Given the description of an element on the screen output the (x, y) to click on. 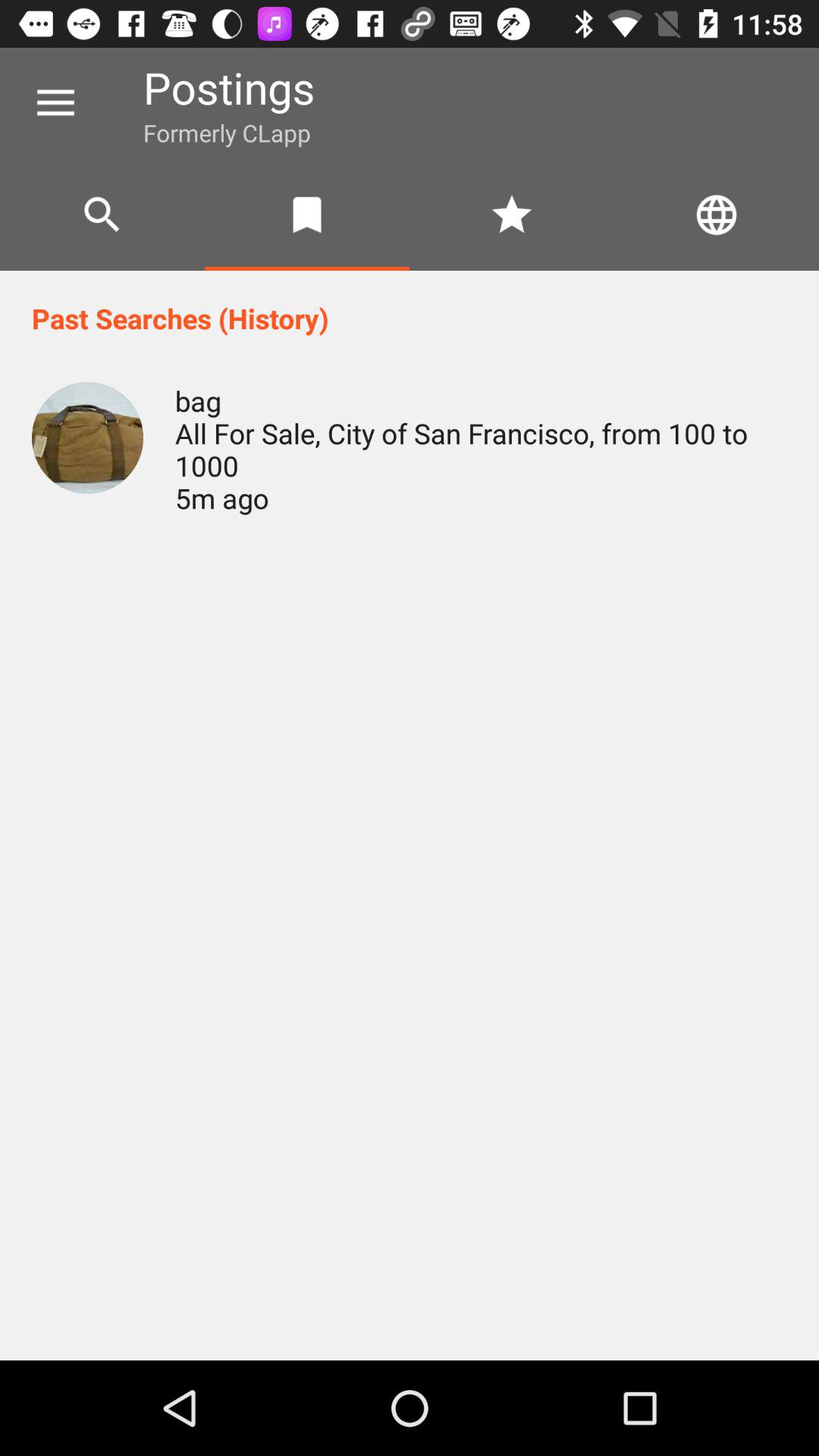
turn off item next to the postings item (55, 103)
